Given the description of an element on the screen output the (x, y) to click on. 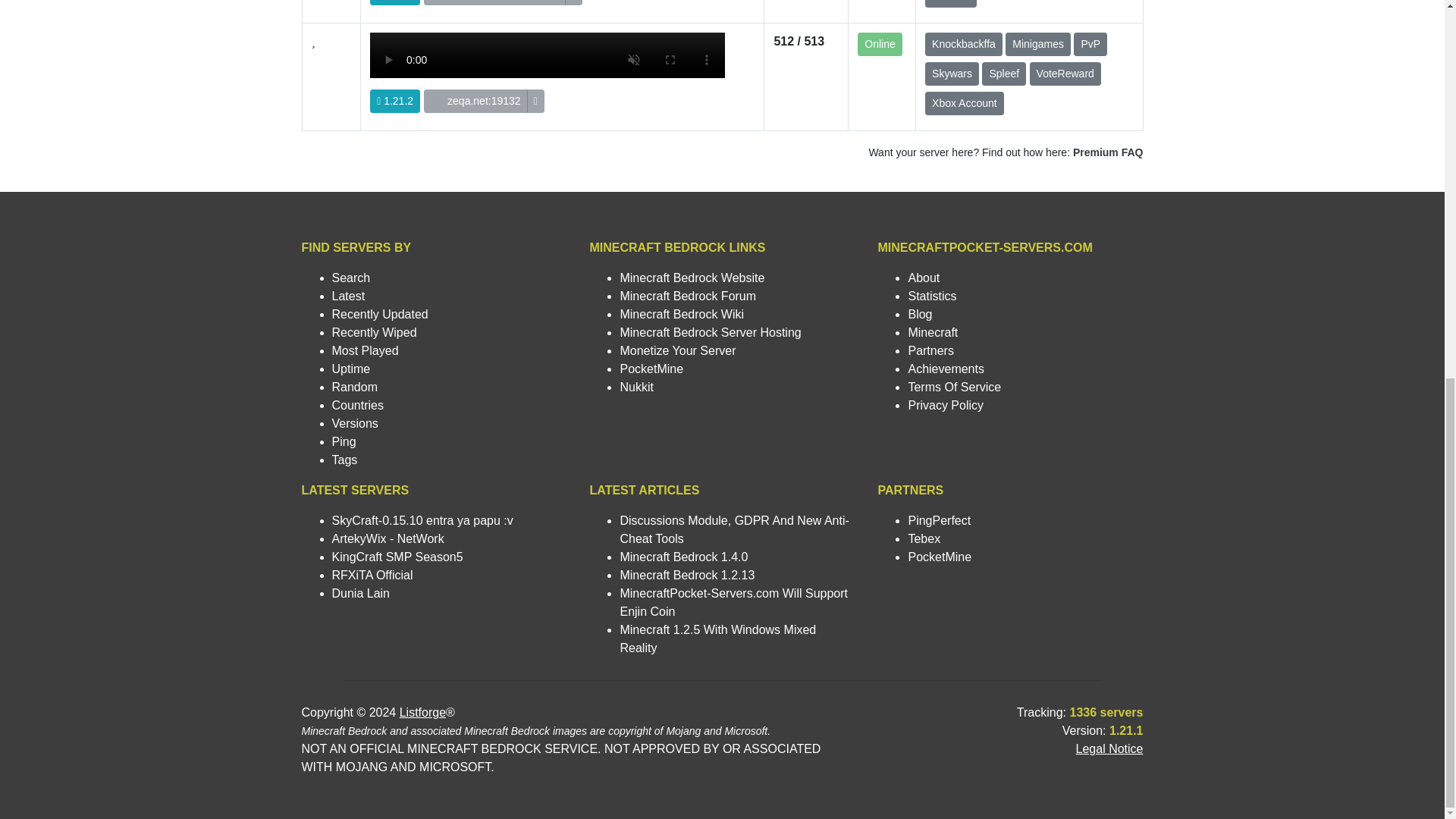
Click to copy the server address. (573, 2)
Monetize Your Minecraft Bedrock Server with Tebex (677, 350)
United States of America (437, 101)
Zeqa Practice (547, 73)
